Given the description of an element on the screen output the (x, y) to click on. 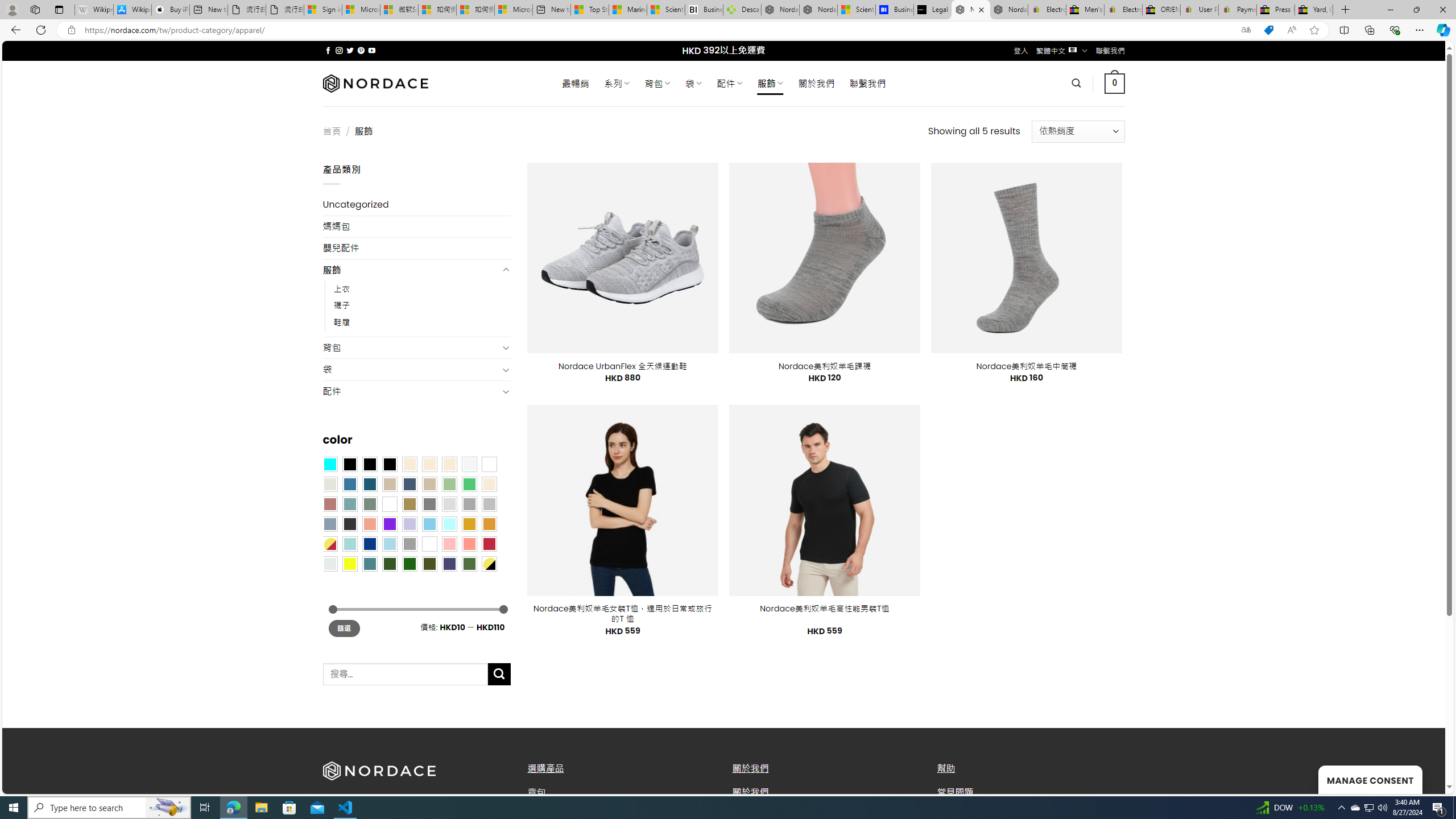
Go to top (1421, 777)
Follow on Pinterest (360, 50)
